Given the description of an element on the screen output the (x, y) to click on. 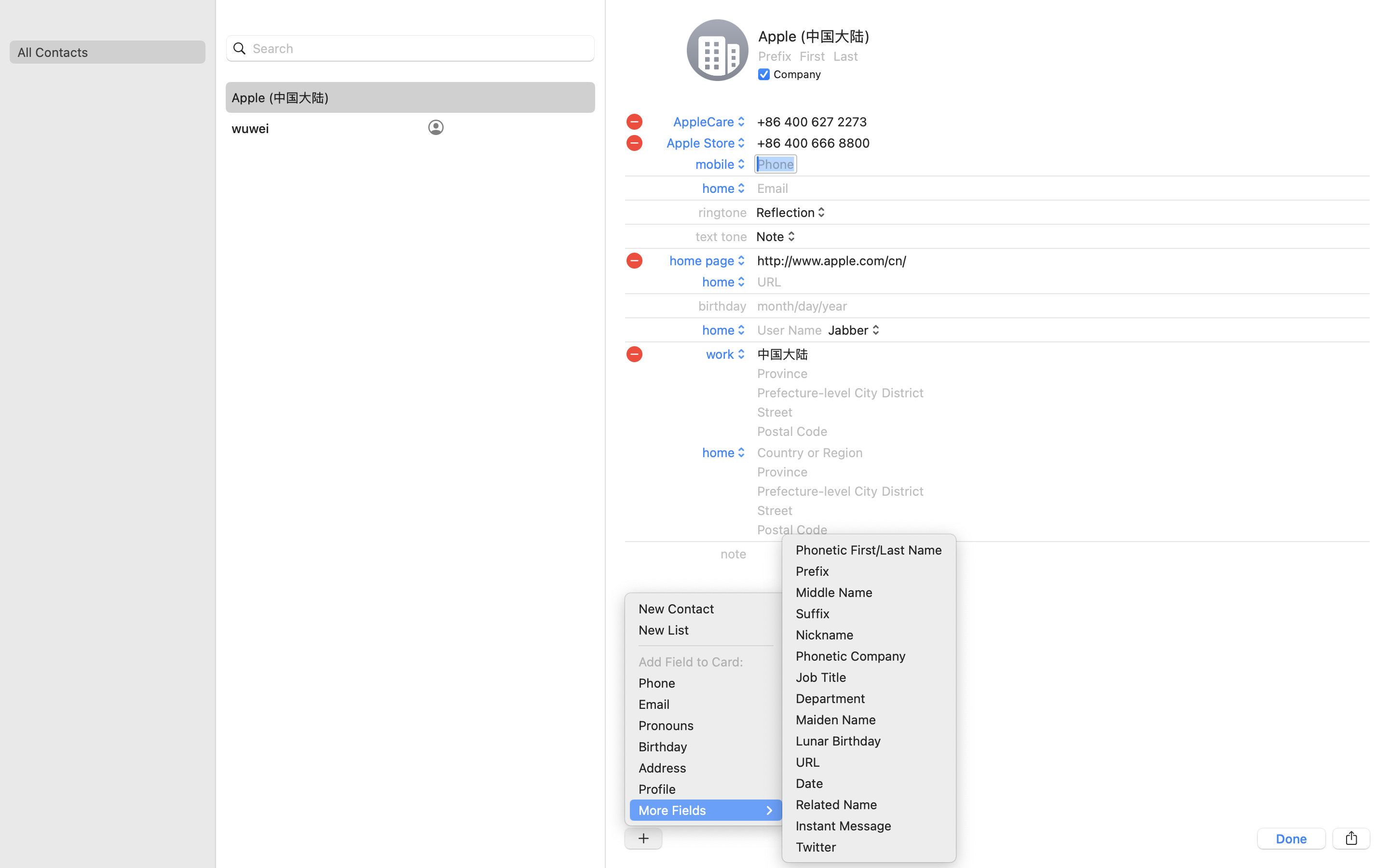
ringtone Element type: AXStaticText (722, 211)
All Contacts Element type: AXStaticText (107, 51)
home Element type: AXStaticText (724, 329)
‭+86 400 627 2273‬ Element type: AXTextField (812, 121)
http://www.apple.com/cn/ Element type: AXTextField (831, 260)
